Given the description of an element on the screen output the (x, y) to click on. 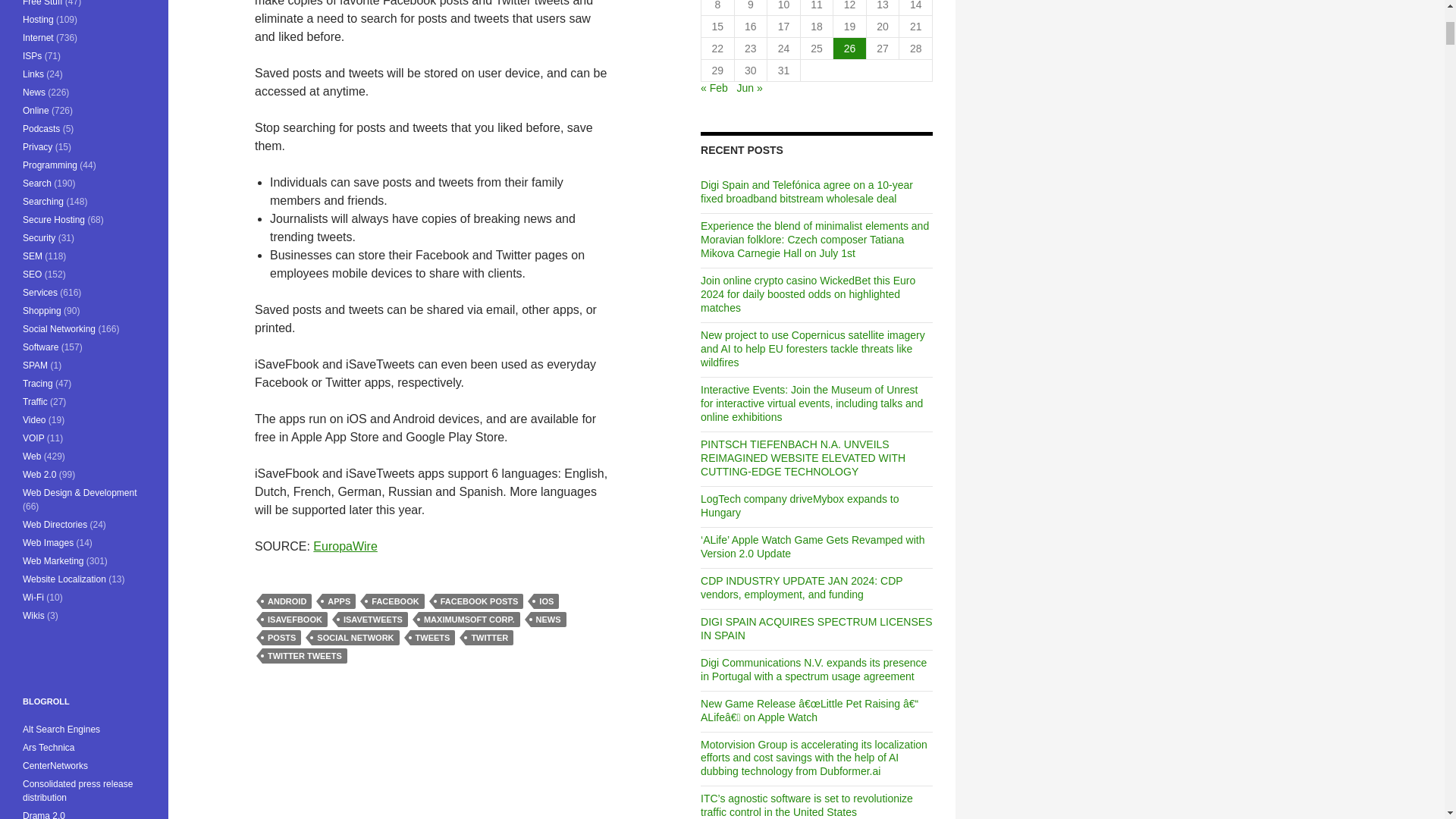
TWITTER TWEETS (304, 655)
TWEETS (432, 637)
APPS (338, 601)
ISAVETWEETS (372, 619)
EuropaWire (345, 545)
NEWS (548, 619)
FACEBOOK (394, 601)
IOS (546, 601)
26 (849, 47)
POSTS (281, 637)
MAXIMUMSOFT CORP. (469, 619)
ISAVEFBOOK (294, 619)
SOCIAL NETWORK (354, 637)
FACEBOOK POSTS (479, 601)
ANDROID (286, 601)
